Given the description of an element on the screen output the (x, y) to click on. 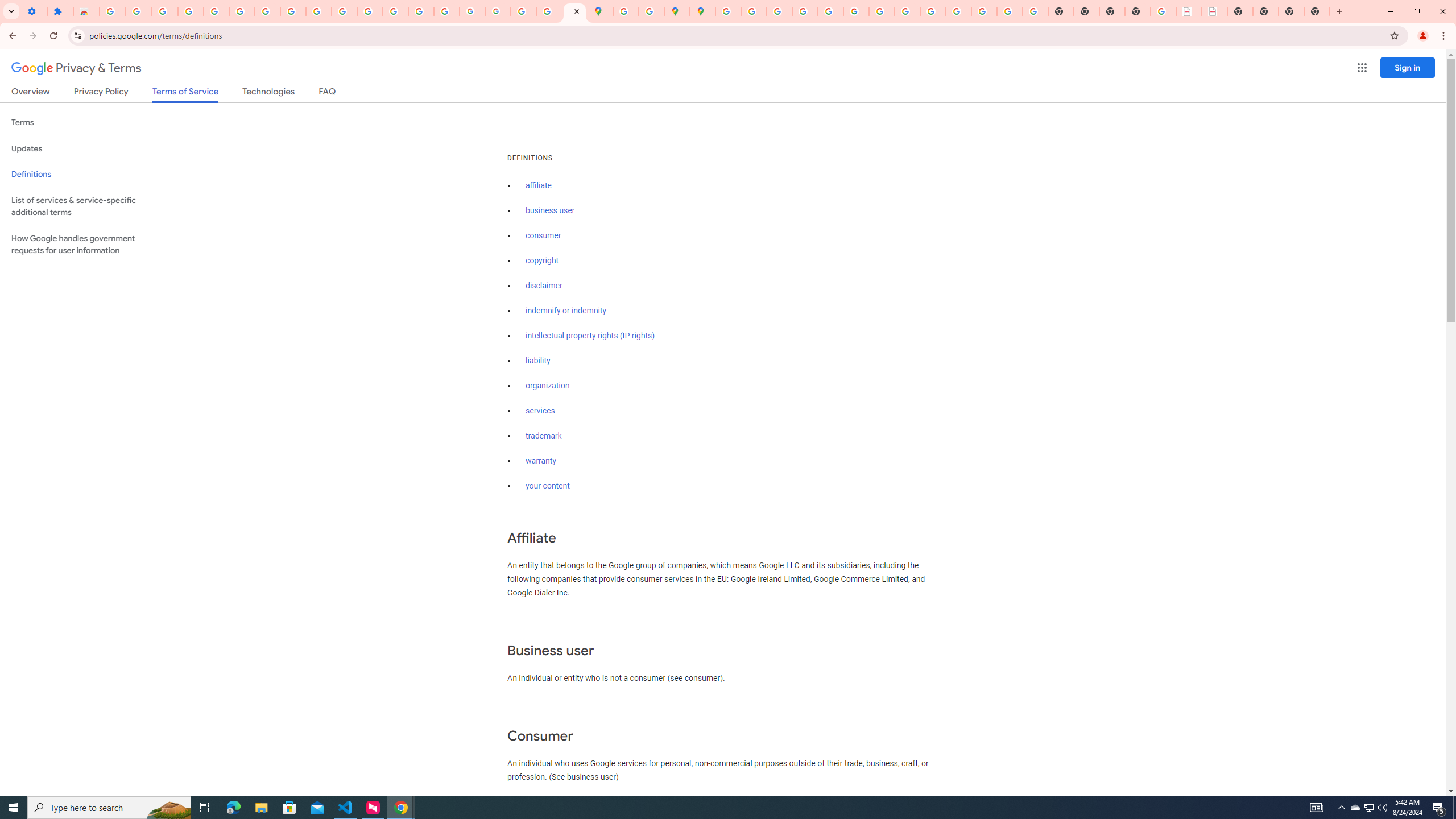
Sign in (1407, 67)
Chrome (1445, 35)
consumer (543, 235)
Terms of Service (184, 94)
Privacy Help Center - Policies Help (779, 11)
Google apps (1362, 67)
Google Account (293, 11)
Technologies (268, 93)
YouTube (881, 11)
Search tabs (10, 11)
trademark (543, 435)
FAQ (327, 93)
Extensions (60, 11)
